Given the description of an element on the screen output the (x, y) to click on. 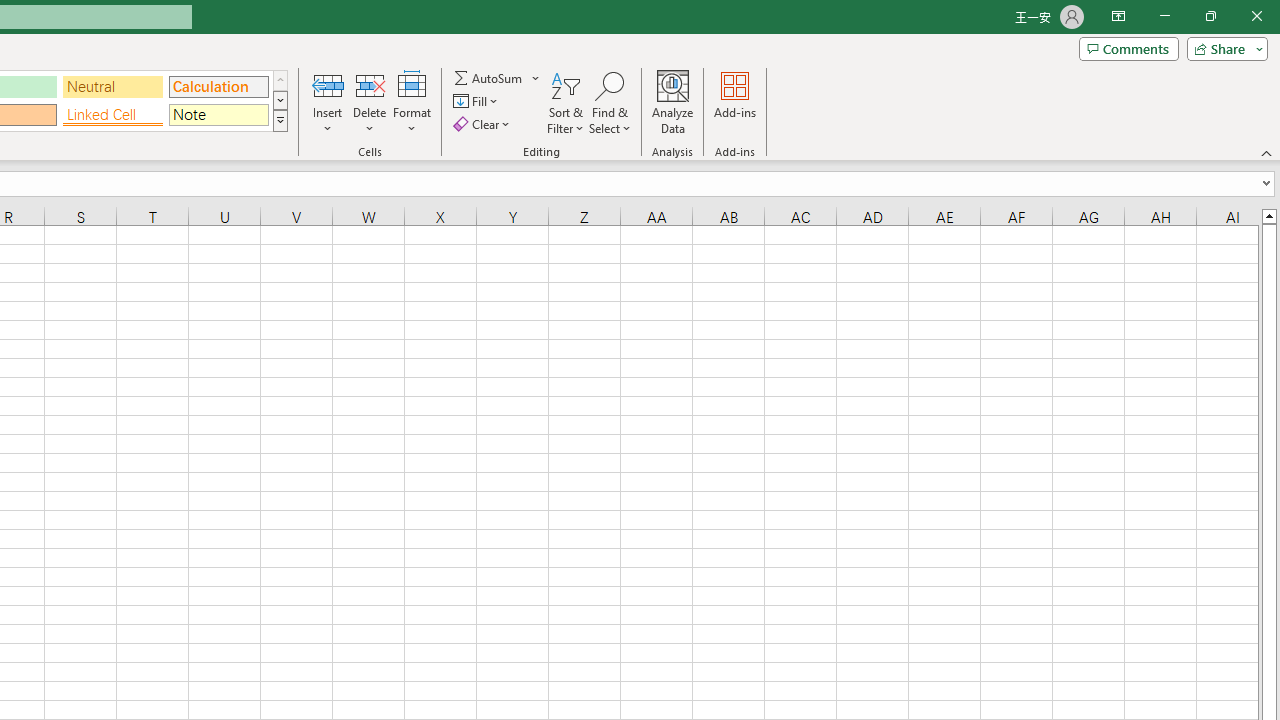
Delete Cells... (369, 84)
